Given the description of an element on the screen output the (x, y) to click on. 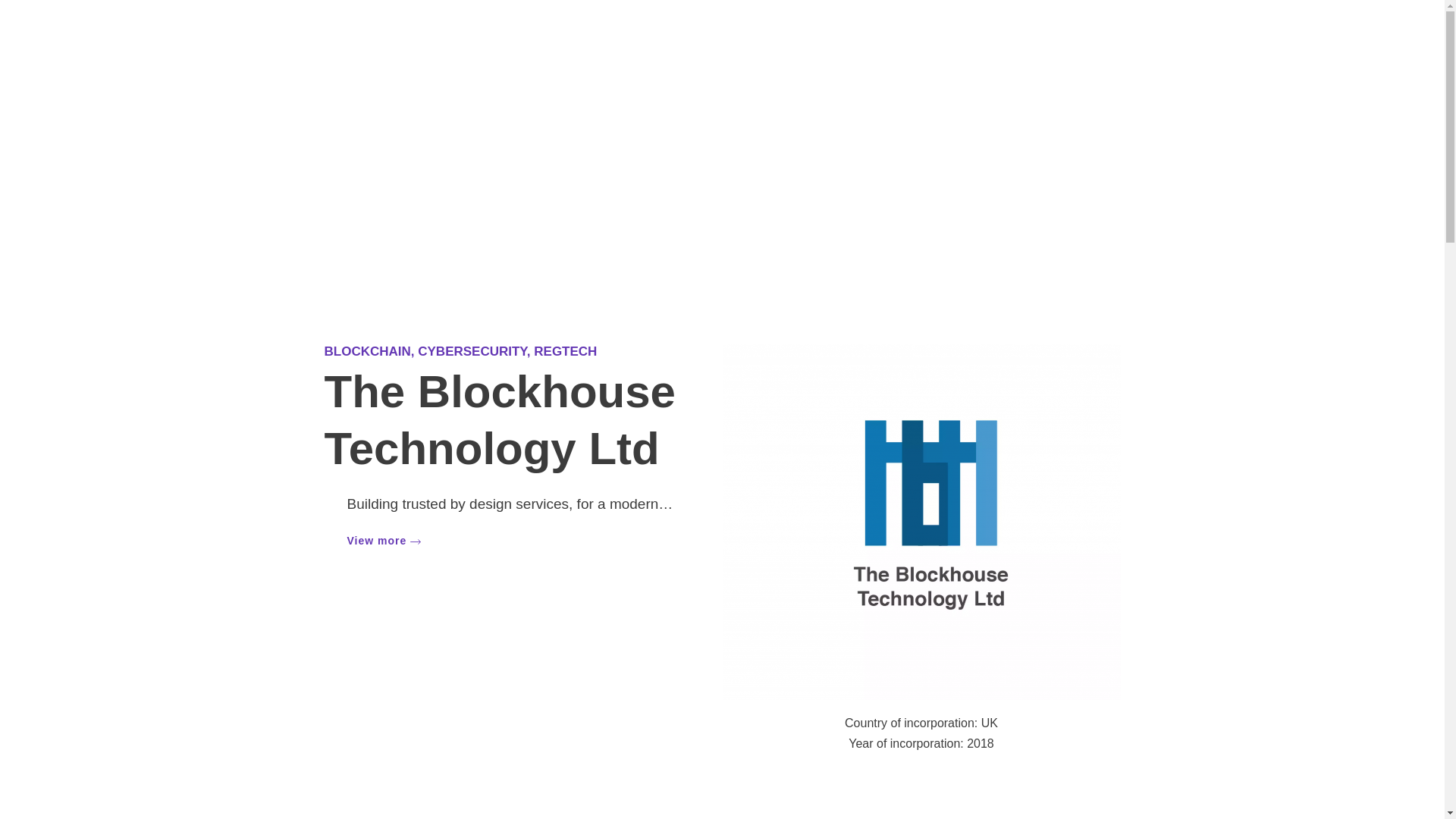
REGTECH (565, 350)
View more (384, 540)
CYBERSECURITY (472, 350)
BLOCKCHAIN (367, 350)
